Given the description of an element on the screen output the (x, y) to click on. 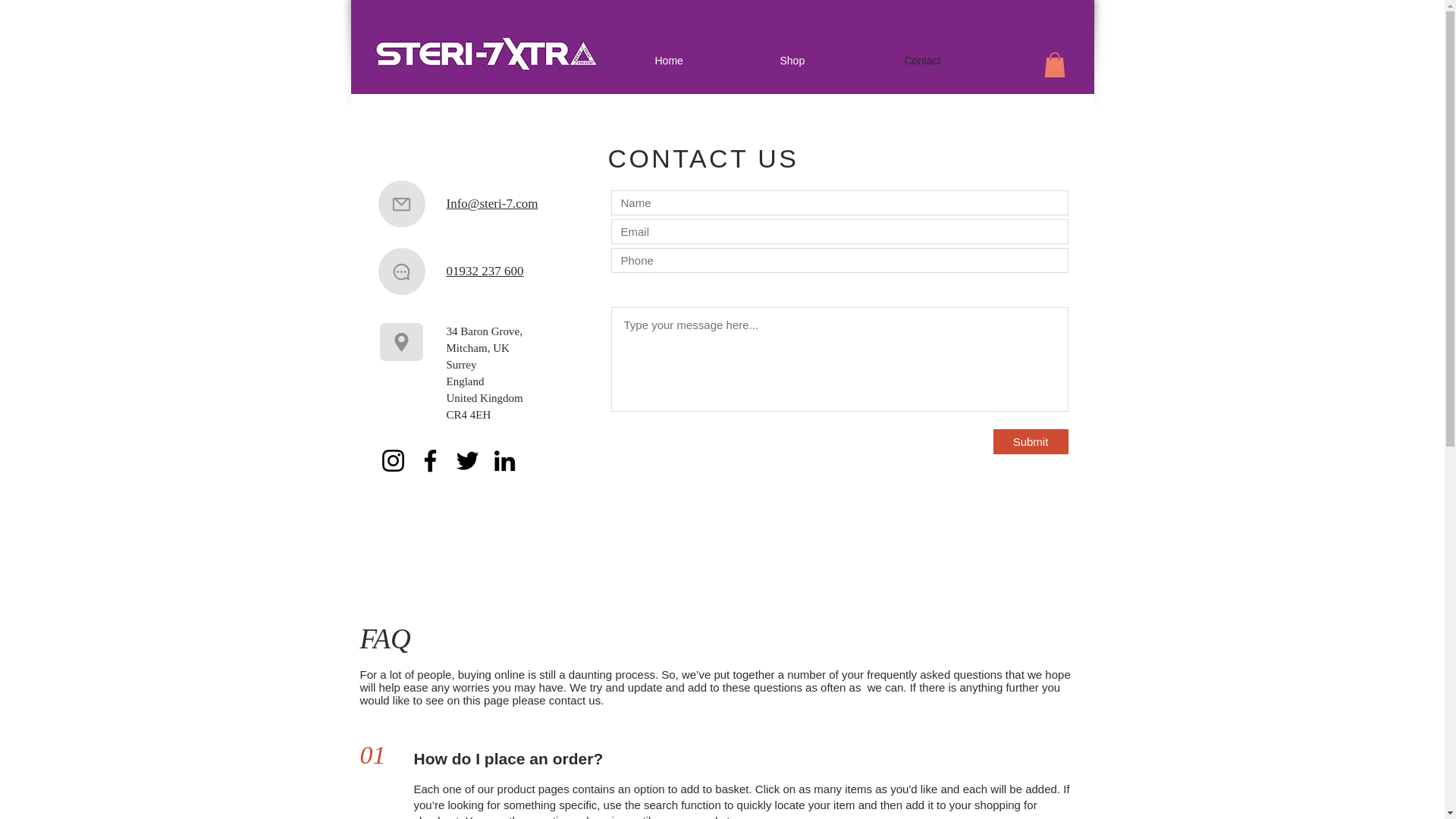
Submit (1030, 441)
Home (708, 60)
Contact (958, 60)
01932 237 600 (483, 270)
Shop (833, 60)
